Given the description of an element on the screen output the (x, y) to click on. 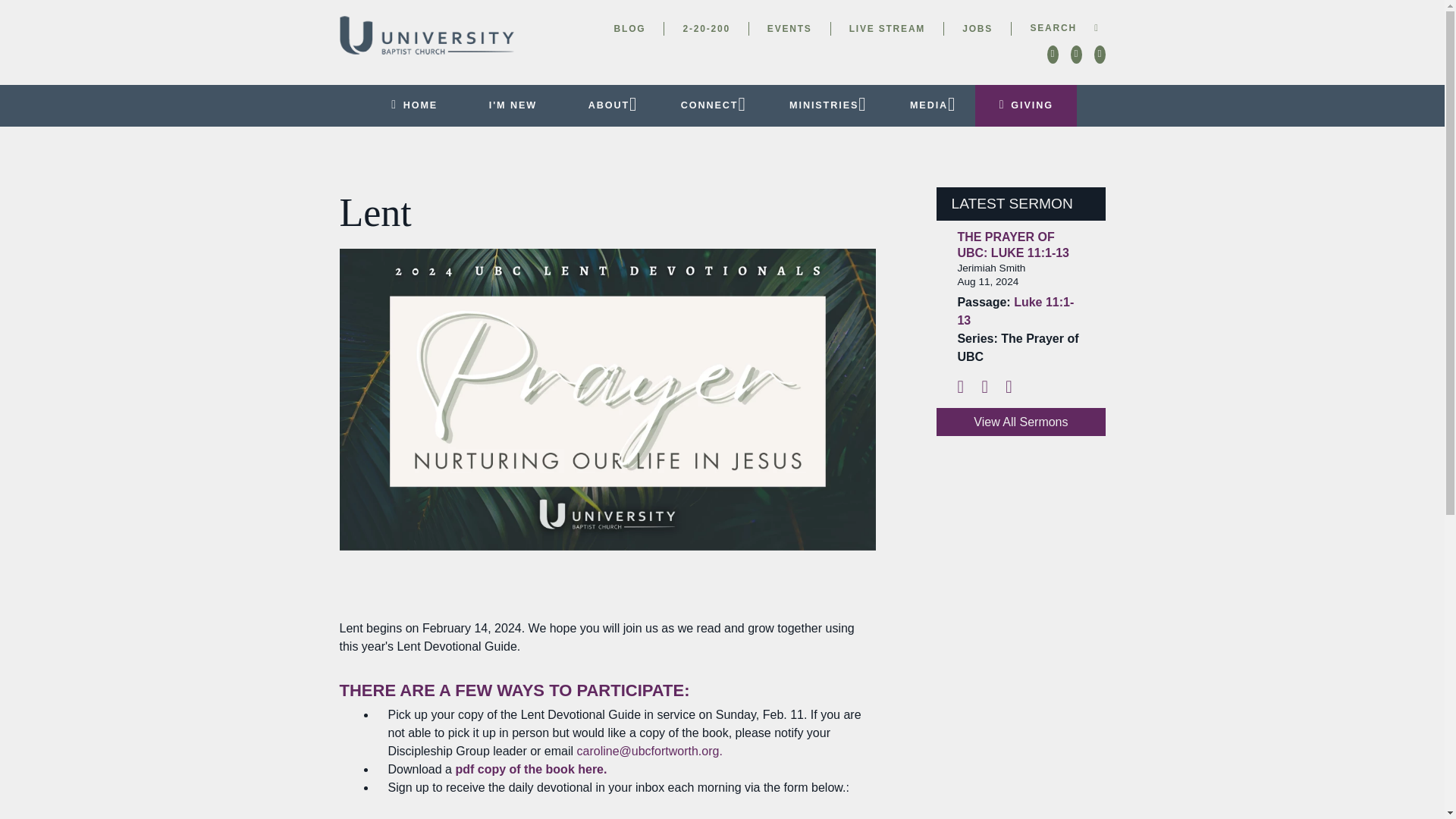
Events (789, 28)
2-20-200 (705, 28)
Live Stream (886, 28)
Jobs (977, 28)
BLOG (630, 28)
LIVE STREAM (886, 28)
2-20-200 (705, 28)
Blog (630, 28)
EVENTS (789, 28)
JOBS (977, 28)
